Given the description of an element on the screen output the (x, y) to click on. 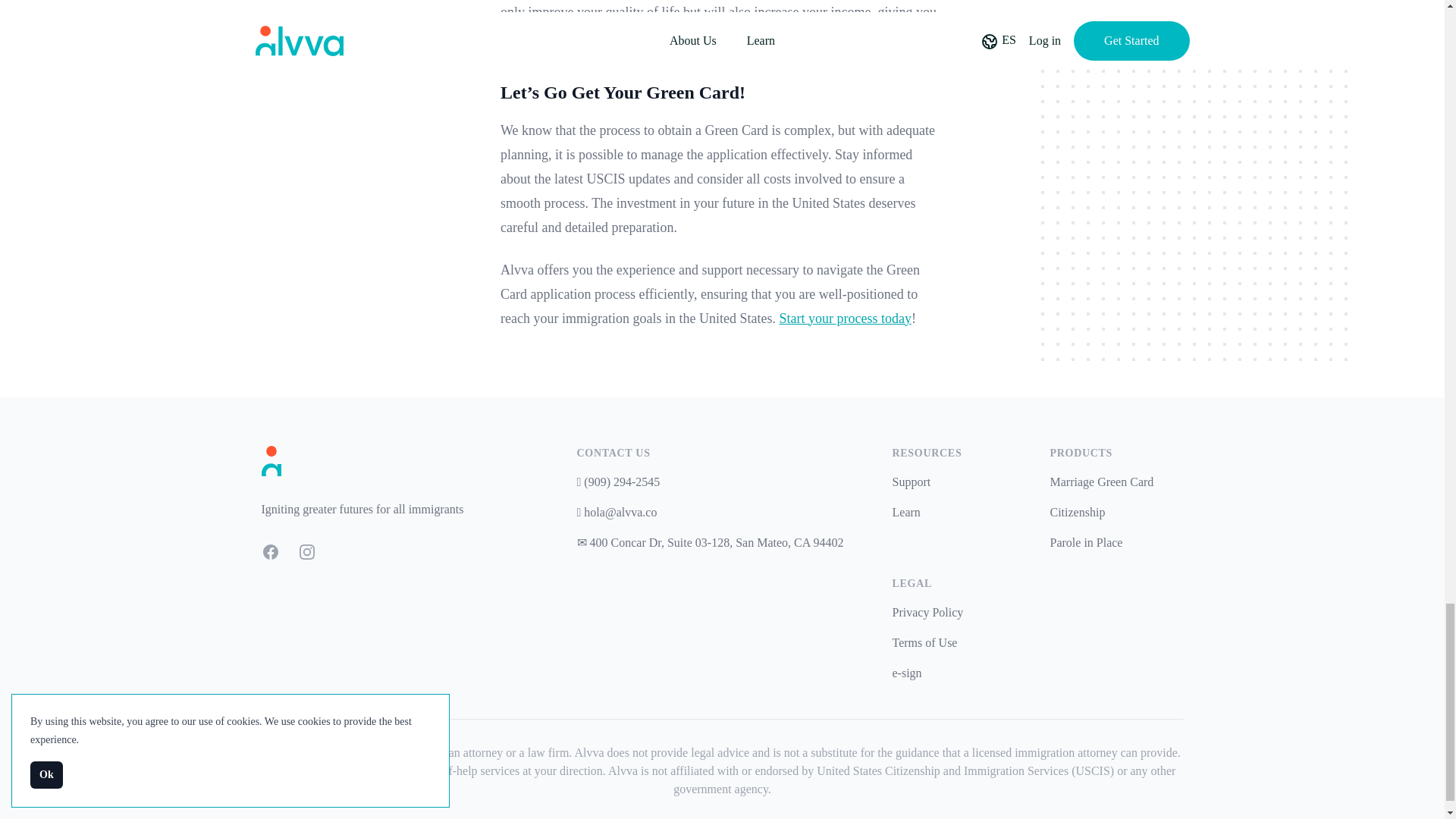
Facebook (269, 551)
e-sign (906, 672)
Privacy Policy (926, 612)
Learn (905, 512)
Citizenship (1077, 512)
Instagram (306, 551)
Terms of Use (923, 642)
Parole in Place (1085, 542)
Marriage Green Card (1101, 481)
Support (910, 481)
